Given the description of an element on the screen output the (x, y) to click on. 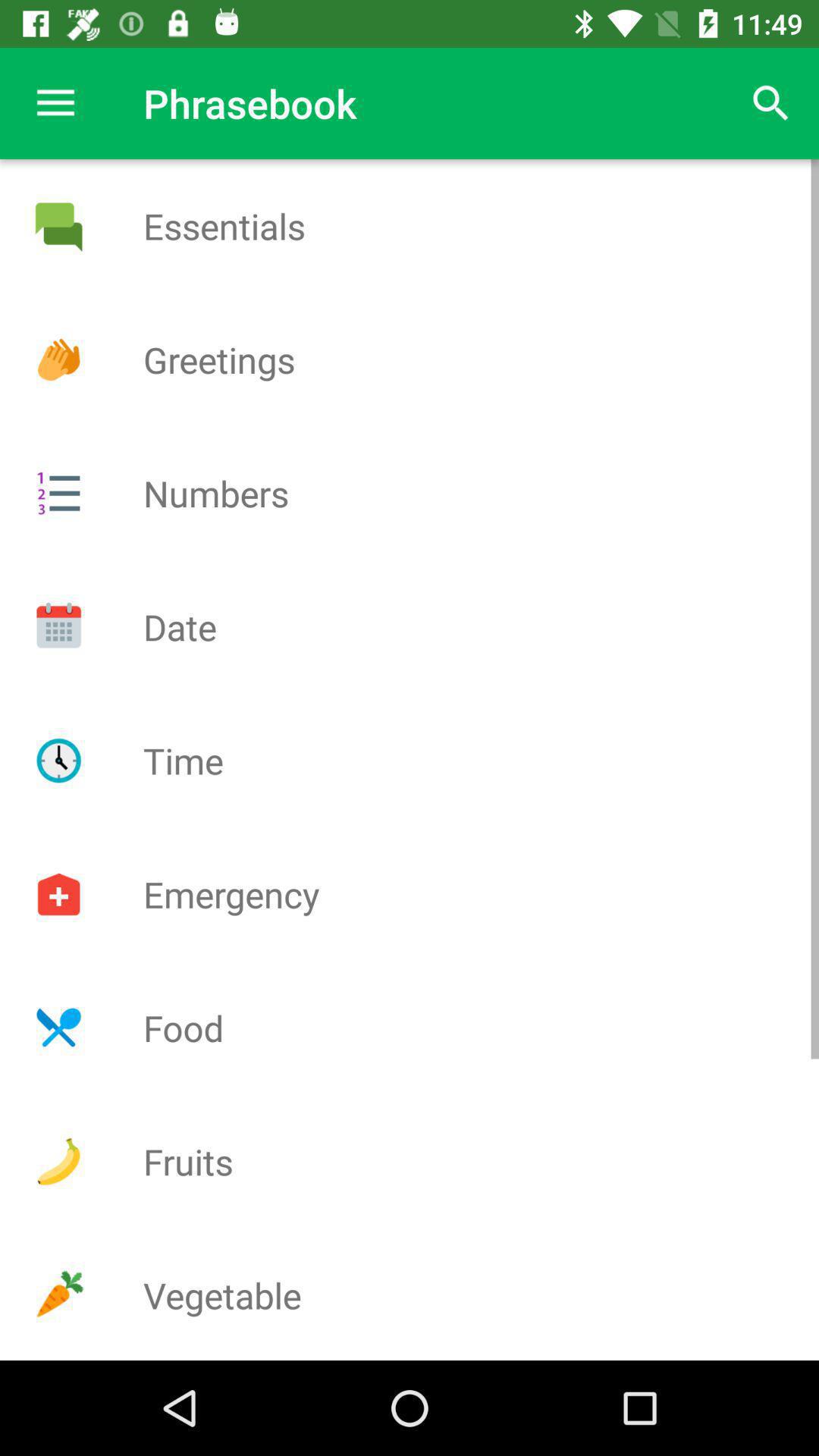
the fruit image (58, 1161)
